Given the description of an element on the screen output the (x, y) to click on. 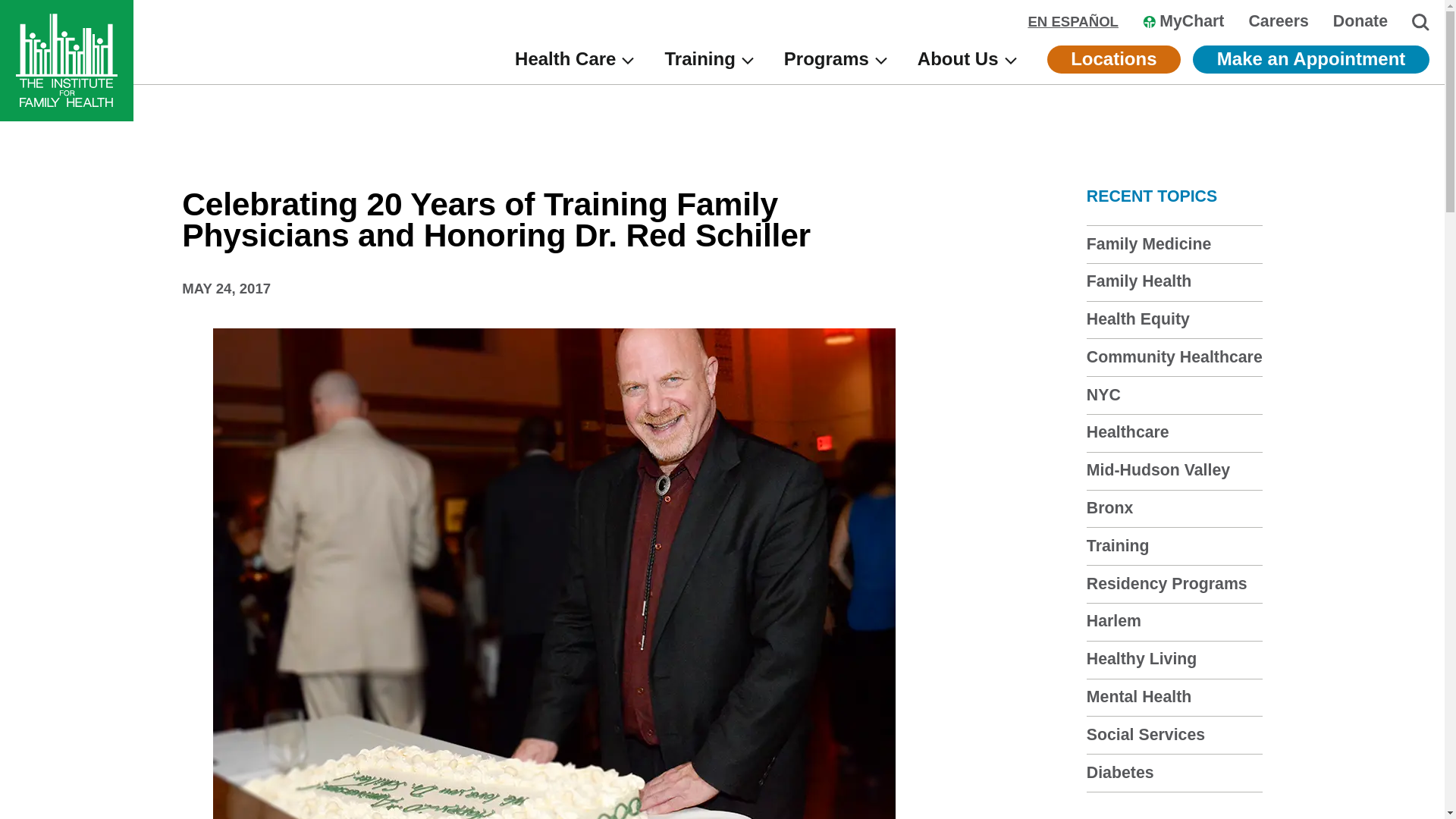
Healthcare (1127, 432)
Family Medicine (1148, 244)
Donate (1360, 21)
Programs (835, 59)
Health Equity (1137, 319)
Diabetes (1120, 772)
Mental Health (1138, 696)
Residency Programs (1166, 583)
NYC (1103, 394)
Healthy Living (1141, 659)
